Given the description of an element on the screen output the (x, y) to click on. 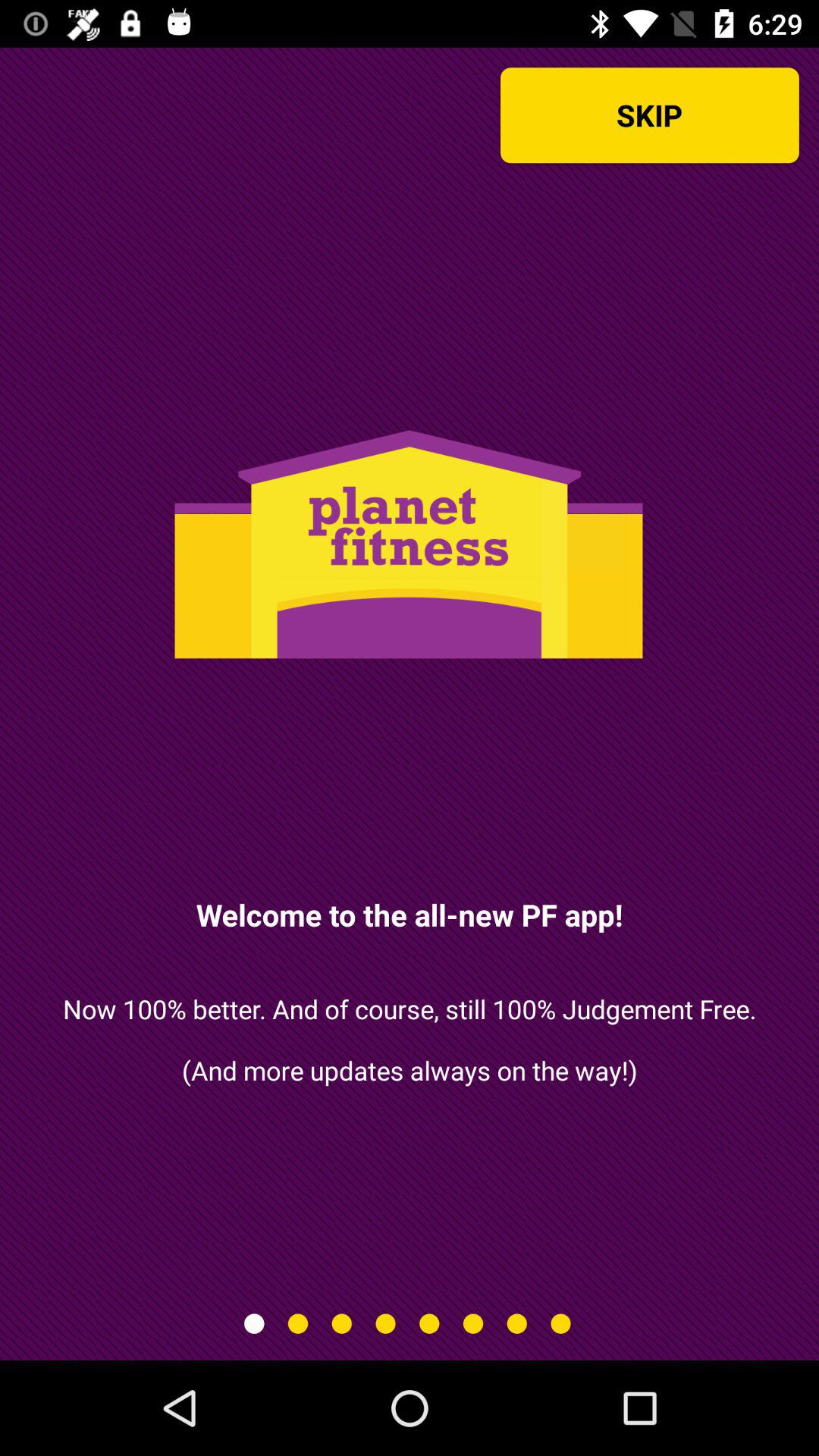
click the icon at the top right corner (649, 115)
